Given the description of an element on the screen output the (x, y) to click on. 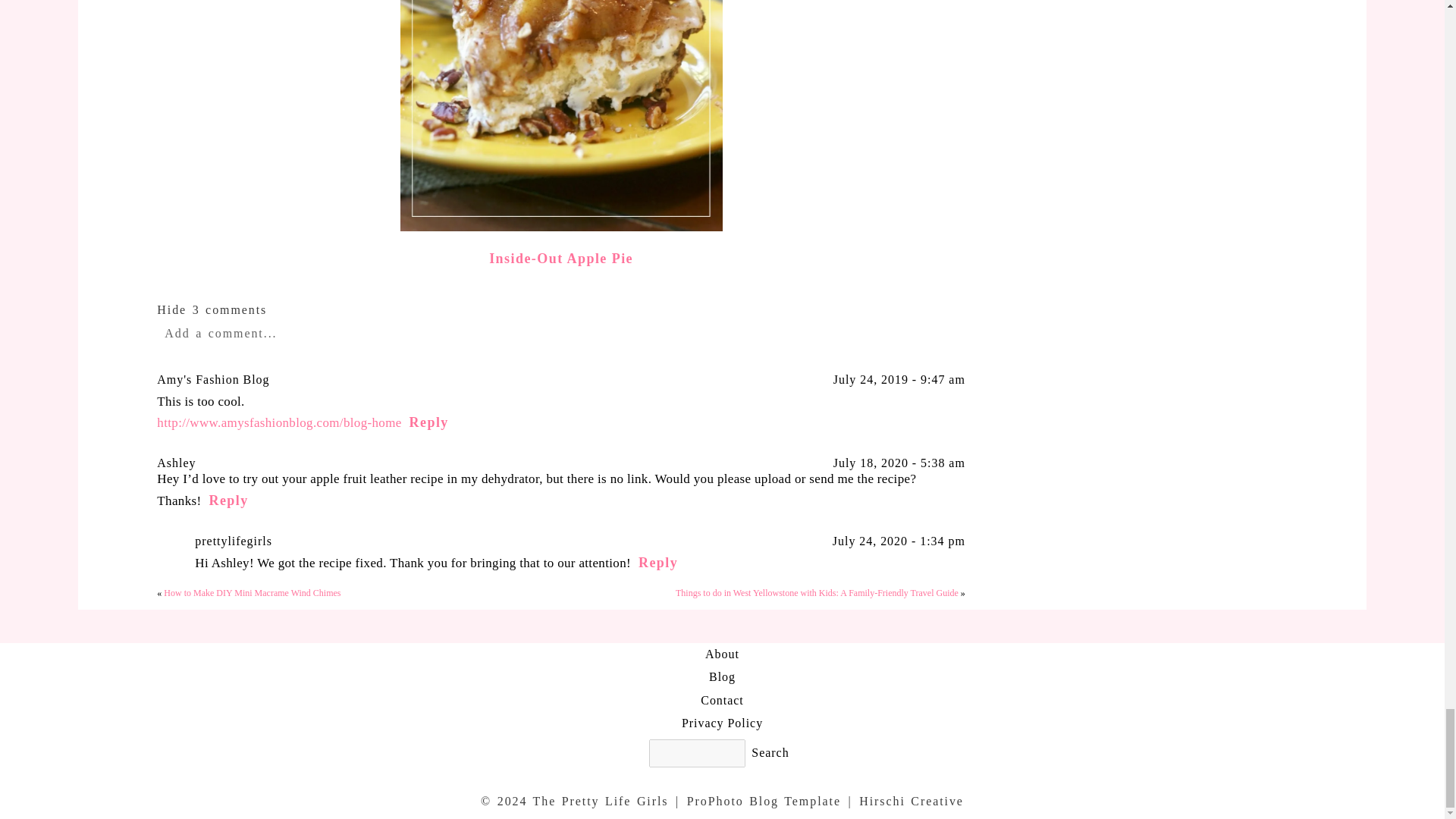
Search (770, 753)
ProPhoto Website (764, 800)
Search (770, 753)
Inside-Out Apple Pie (561, 258)
